Given the description of an element on the screen output the (x, y) to click on. 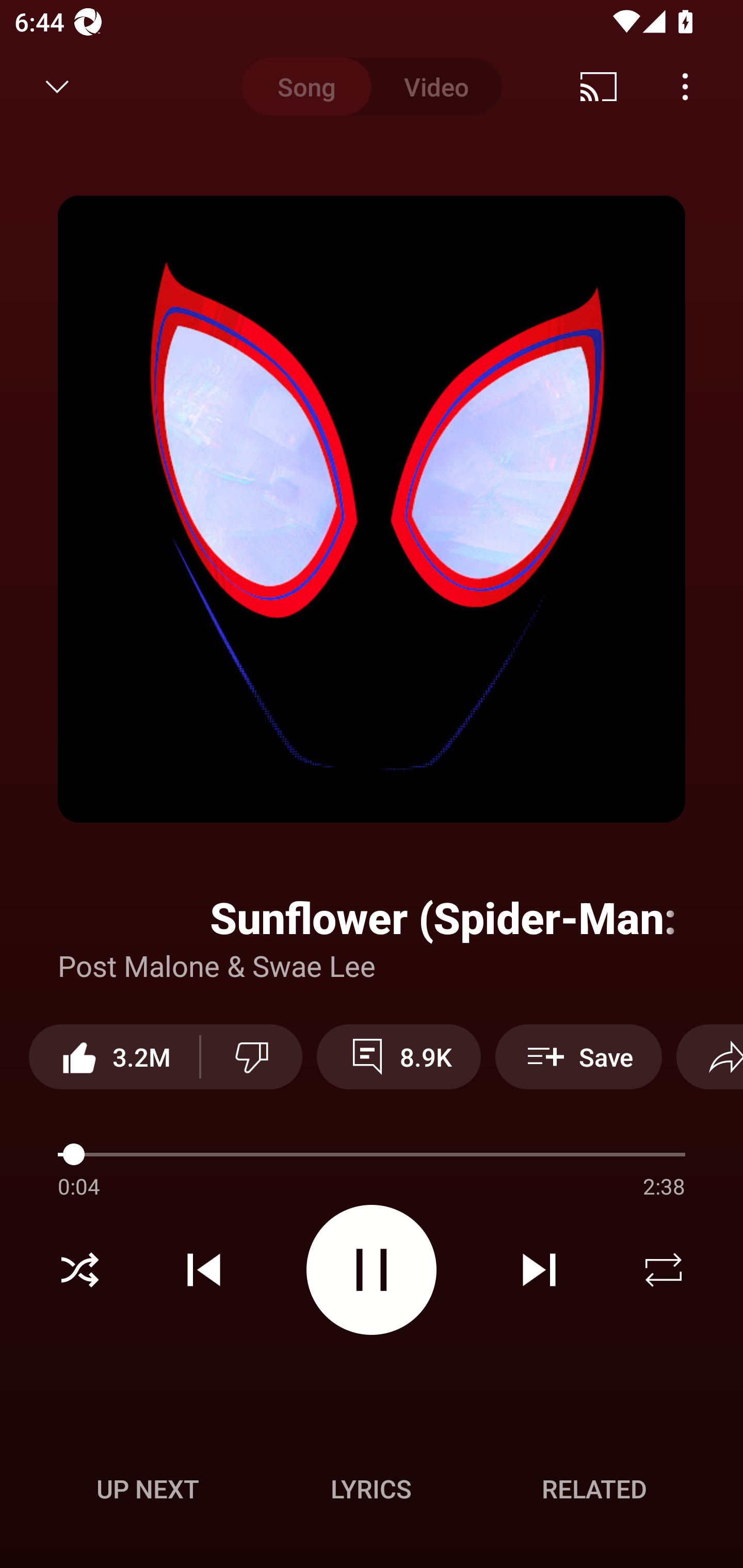
Minimize (57, 86)
Cast. Disconnected (598, 86)
Menu (684, 86)
Dislike (251, 1056)
8.9K View 8,905 comments (398, 1056)
Save Save to playlist (578, 1056)
Share (709, 1056)
Pause video (371, 1269)
Shuffle on (79, 1269)
Previous track (203, 1269)
Next track (538, 1269)
Repeat off (663, 1269)
Up next UP NEXT Lyrics LYRICS Related RELATED (371, 1491)
Lyrics LYRICS (370, 1488)
Related RELATED (594, 1488)
